Given the description of an element on the screen output the (x, y) to click on. 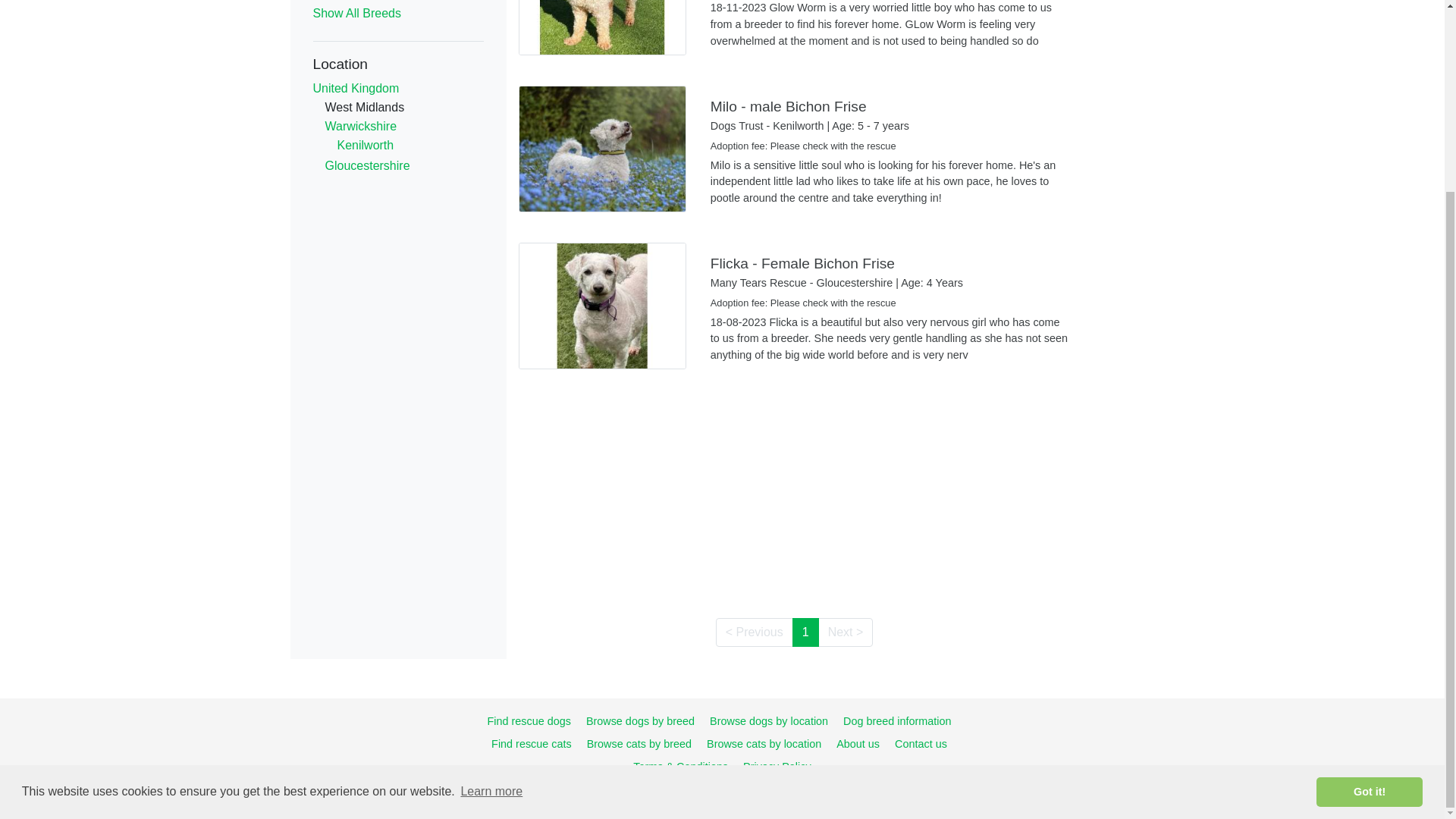
Browse cats by breed (638, 743)
Find Rescue Dogs (528, 720)
Warwickshire (360, 125)
Gloucestershire (366, 164)
United Kingdom (355, 88)
Browse dogs by breed (640, 720)
Got it! (1369, 551)
Dog breed information (896, 720)
Glow Worm - Male Bichon Frise (794, 36)
About us (857, 743)
Show All Breeds (357, 12)
Privacy Policy (776, 766)
United Kingdom (355, 88)
Flicka - Female Bichon Frise (794, 314)
